Given the description of an element on the screen output the (x, y) to click on. 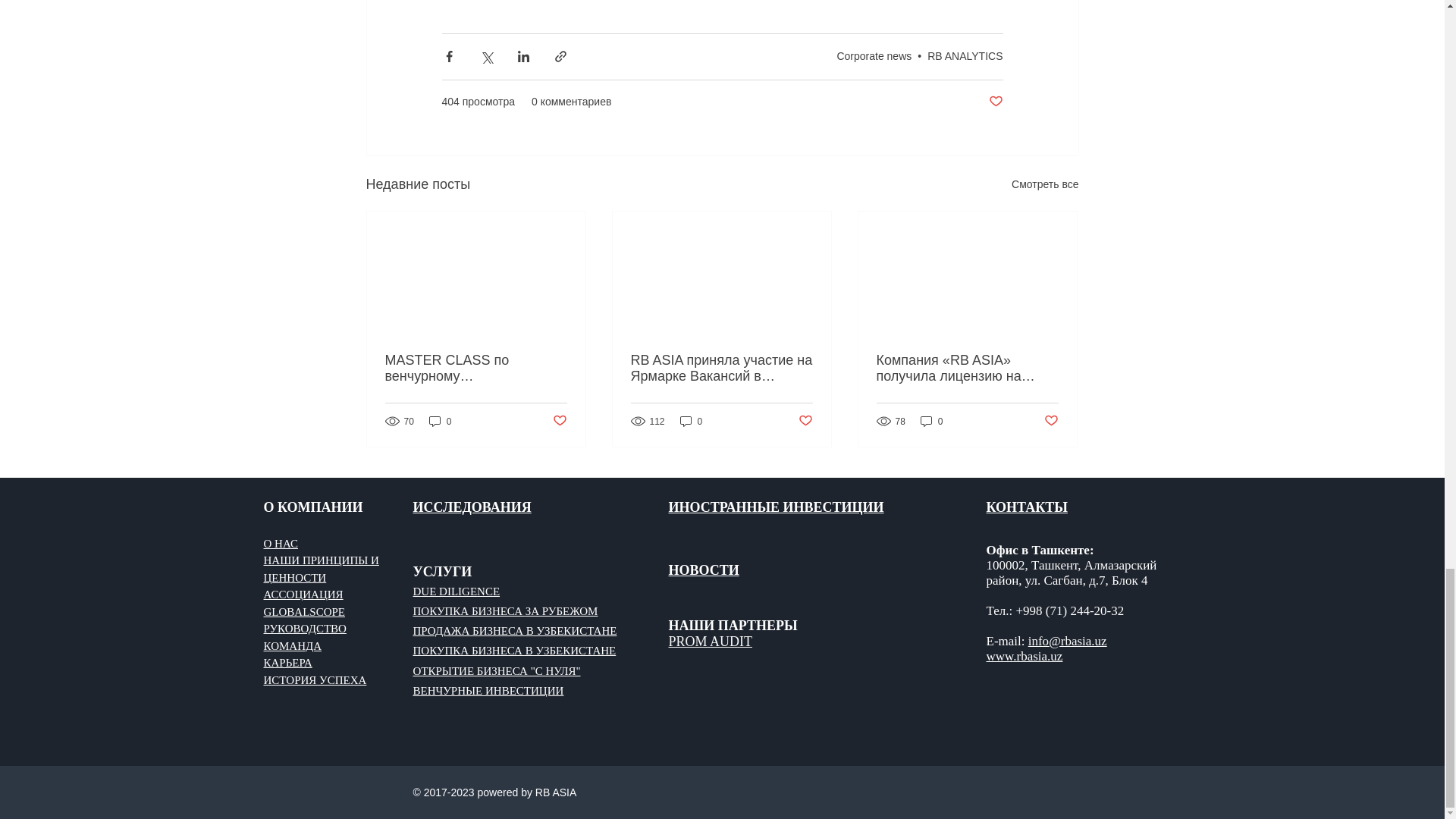
0 (440, 421)
Corporate news (873, 55)
RB ANALYTICS (965, 55)
